Given the description of an element on the screen output the (x, y) to click on. 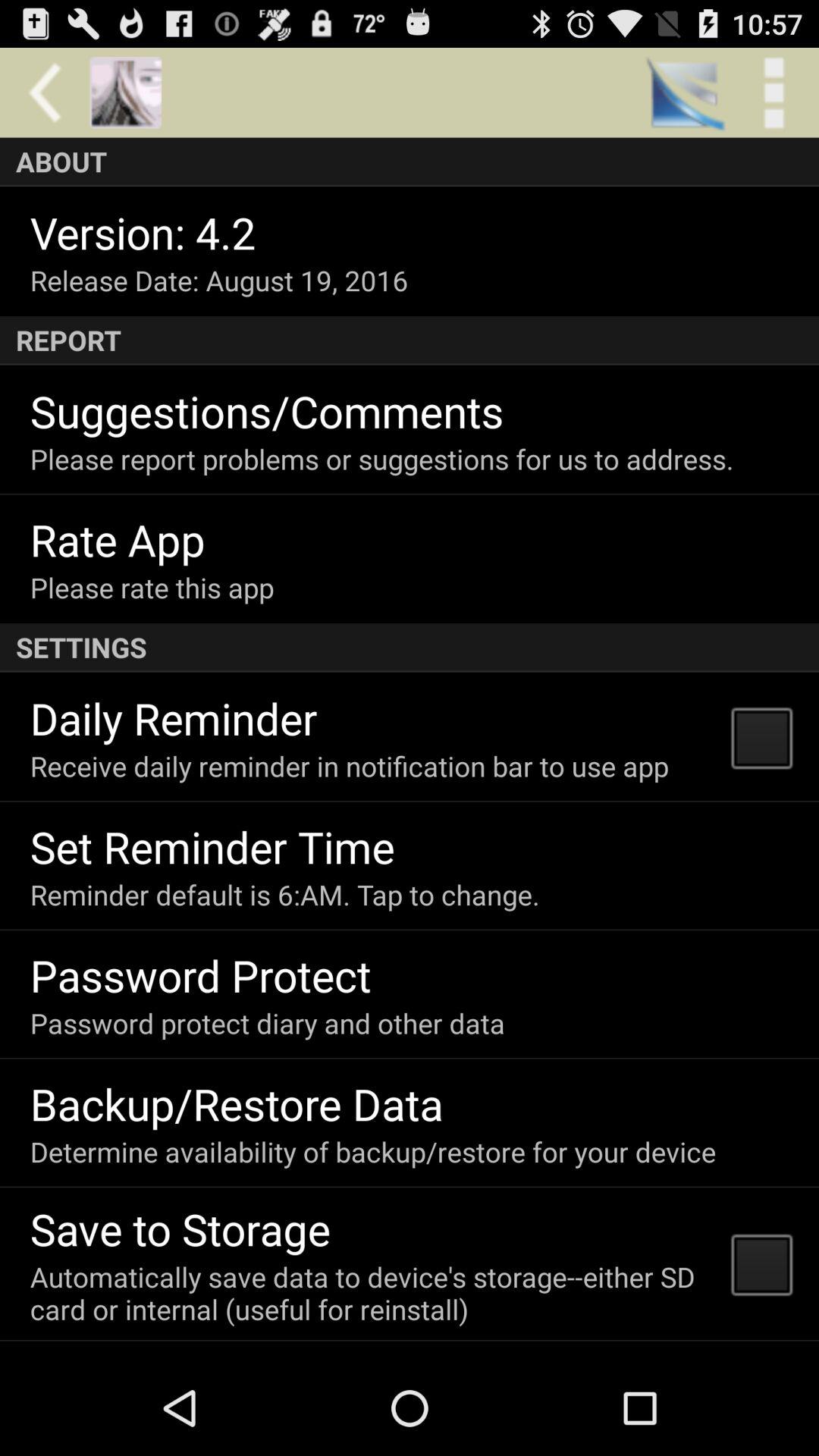
turn on app below save to storage (370, 1293)
